Given the description of an element on the screen output the (x, y) to click on. 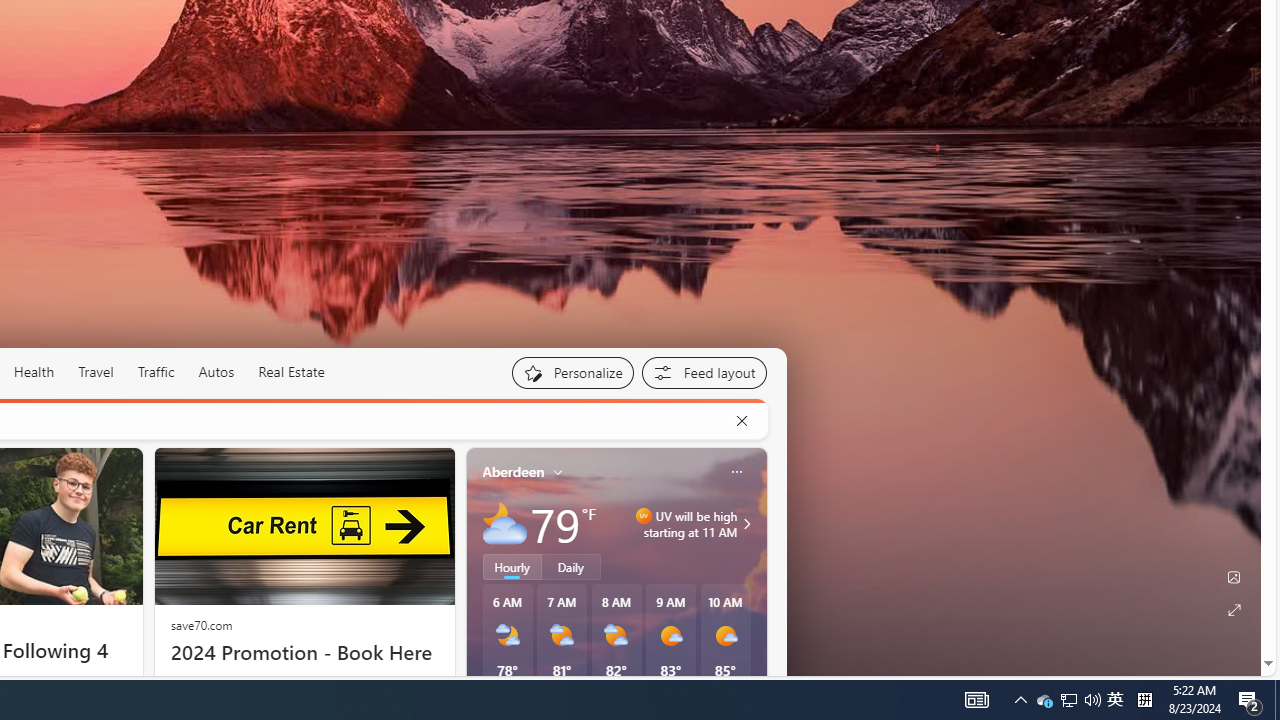
Hourly (511, 566)
Daily (571, 566)
Expand background (1233, 610)
Mostly cloudy (504, 523)
Mostly cloudy (504, 523)
Autos (216, 372)
Real Estate (290, 372)
Personalize your feed" (571, 372)
Aberdeen (513, 471)
Health (34, 371)
2024 Promotion - Book Here (304, 652)
Class: icon-img (736, 471)
